Given the description of an element on the screen output the (x, y) to click on. 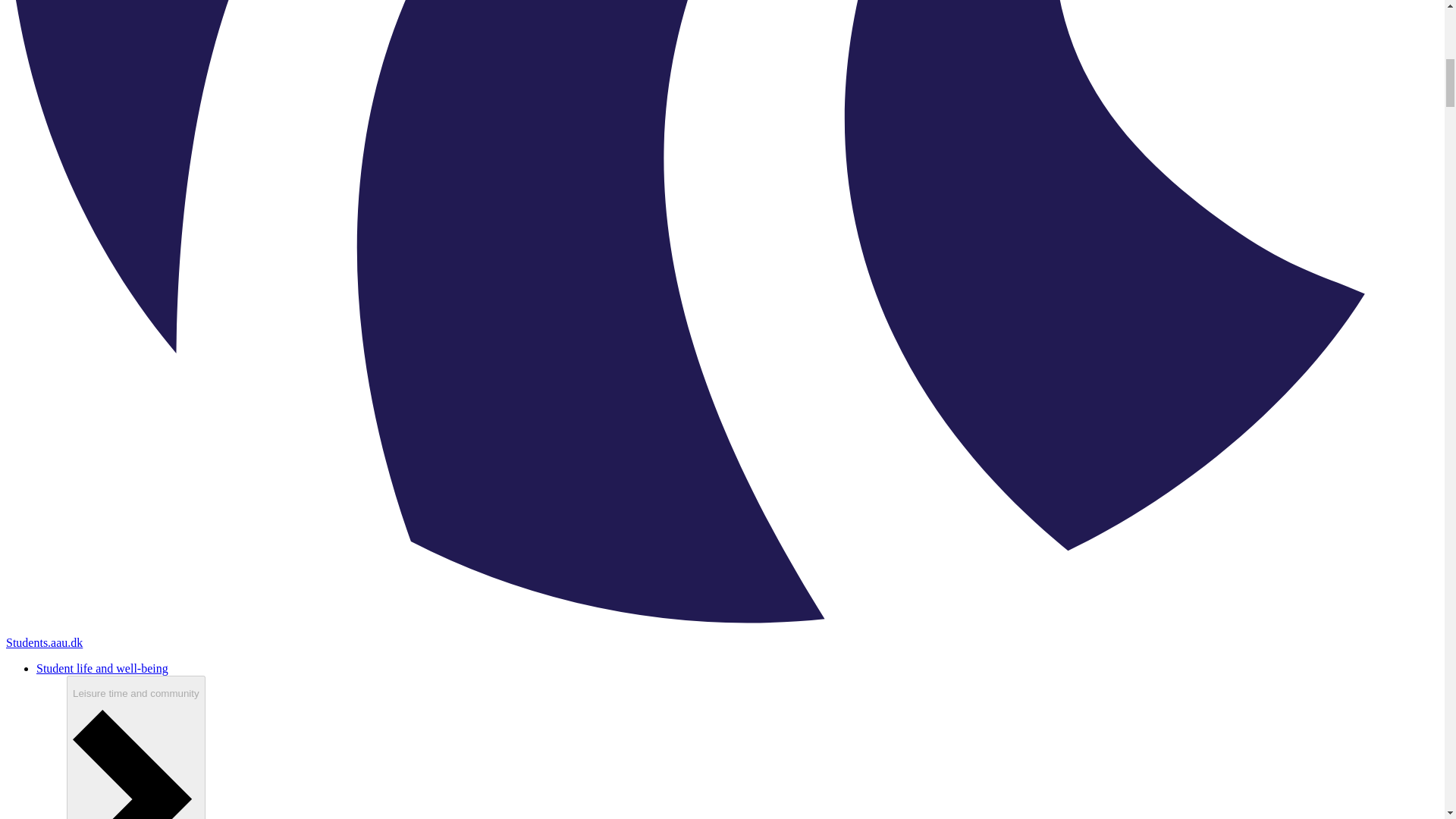
Student life and well-being (102, 667)
Students.aau.dk (43, 642)
Leisure time and community (135, 747)
Student life and well-being (102, 667)
Students.aau.dk (43, 642)
